Given the description of an element on the screen output the (x, y) to click on. 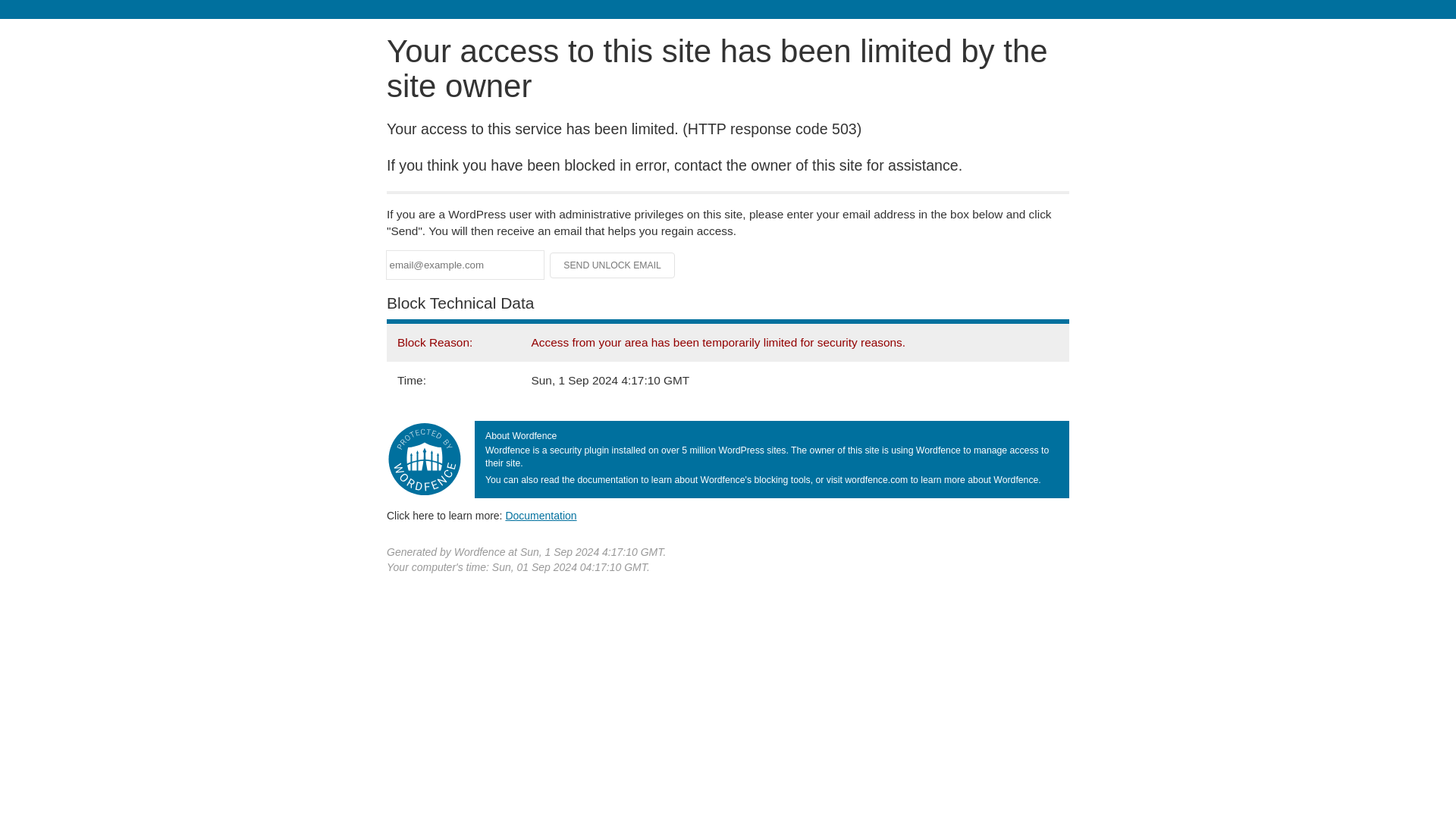
Send Unlock Email (612, 265)
Send Unlock Email (612, 265)
Documentation (540, 515)
